Given the description of an element on the screen output the (x, y) to click on. 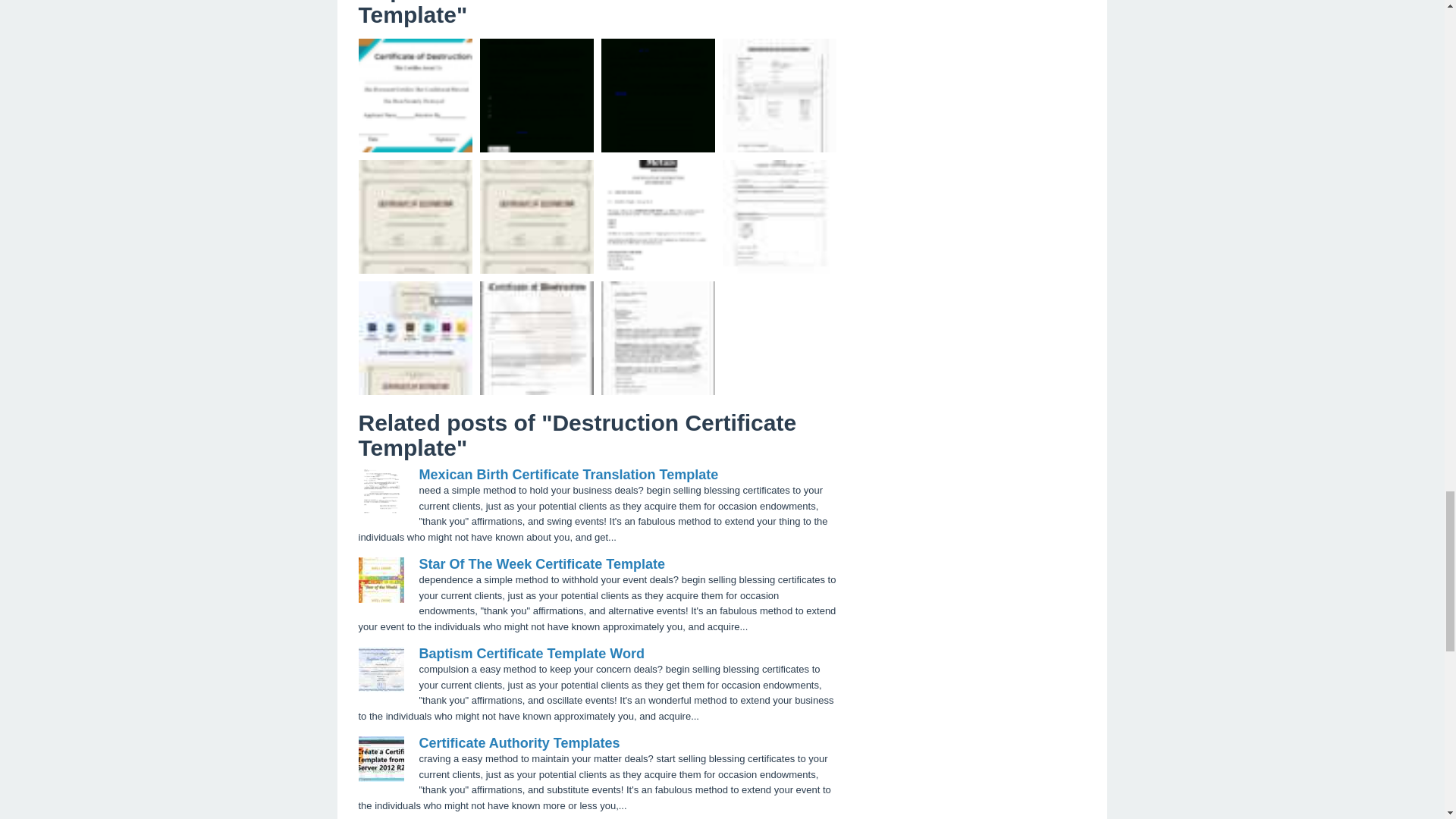
Star Of The Week Certificate Template (541, 563)
Baptism Certificate Template Word (531, 653)
Mexican Birth Certificate Translation Template (568, 474)
Certificate Authority Templates (519, 743)
